Given the description of an element on the screen output the (x, y) to click on. 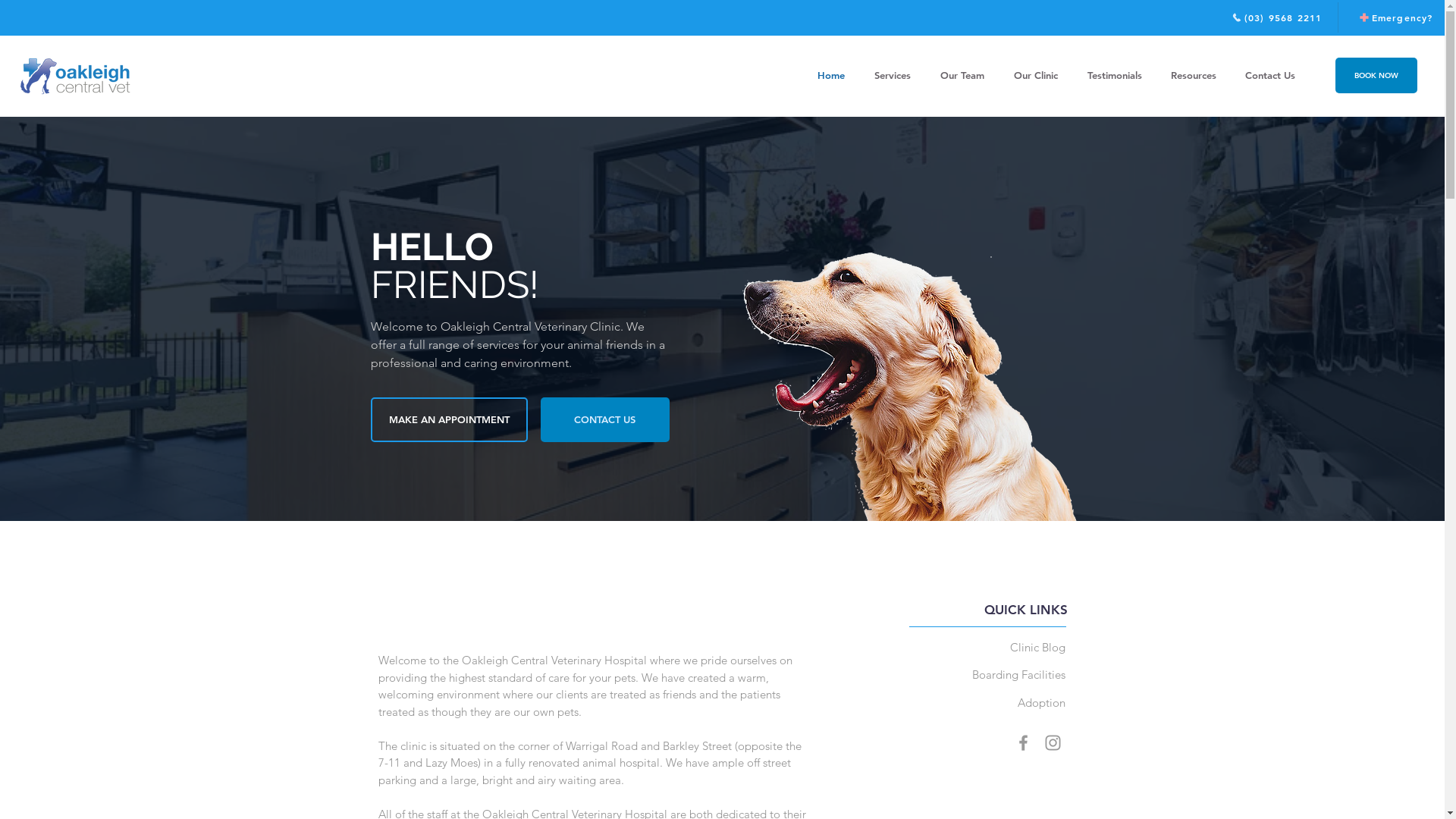
Services Element type: text (892, 75)
Emergency? Element type: text (1395, 17)
MAKE AN APPOINTMENT Element type: text (448, 419)
Testimonials Element type: text (1114, 75)
BOOK NOW Element type: text (1376, 75)
Our Clinic Element type: text (1035, 75)
Home Element type: text (830, 75)
Adoption Element type: text (1041, 701)
CONTACT US Element type: text (603, 419)
Clinic Blog Element type: text (1037, 647)
Contact Us Element type: text (1269, 75)
Boarding Facilities Element type: text (1018, 674)
Our Team Element type: text (961, 75)
(03) 9568 2211 Element type: text (1276, 17)
